Given the description of an element on the screen output the (x, y) to click on. 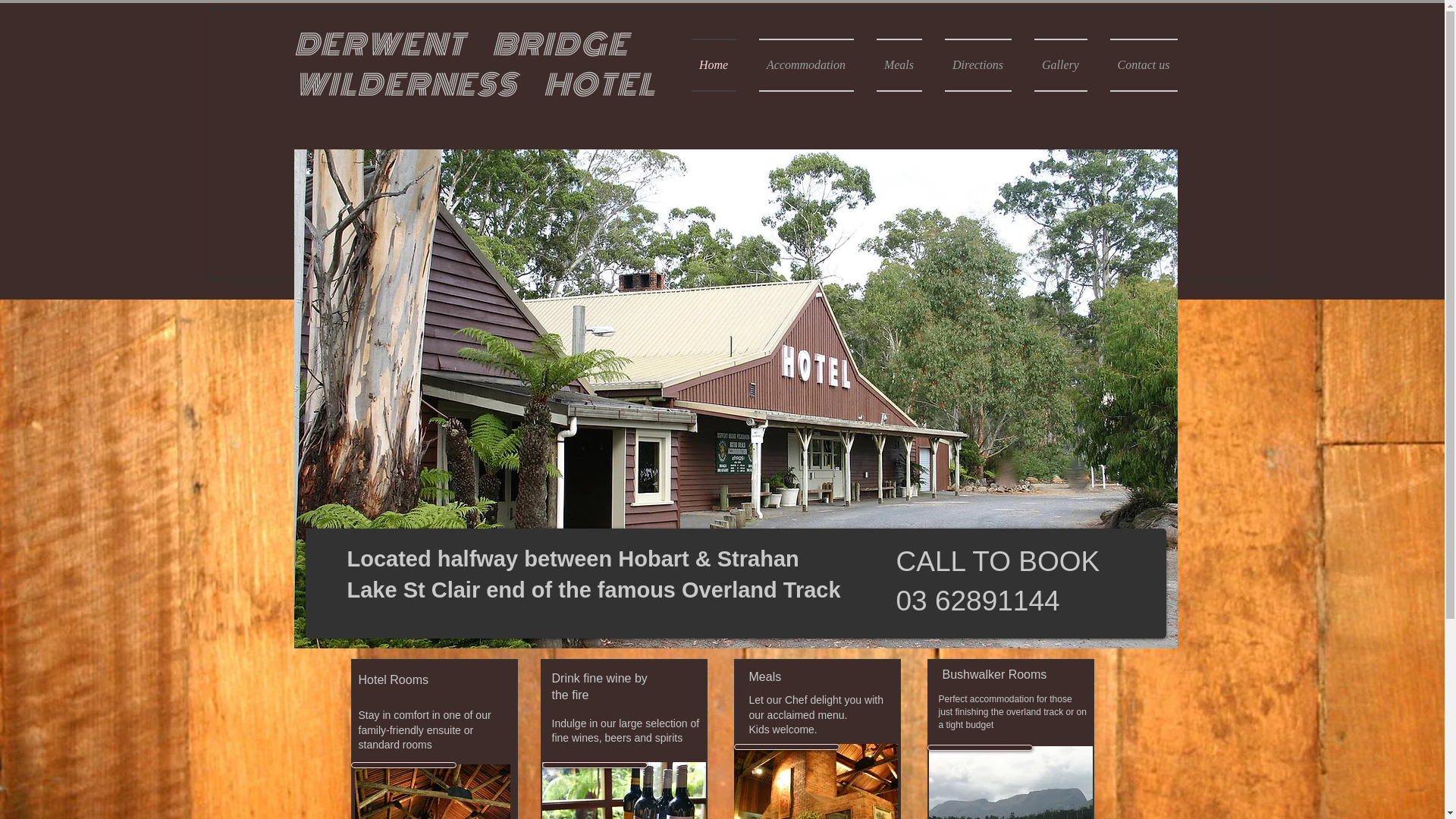
derwent bridge wilderness hotel lake st clair Element type: hover (735, 398)
Contact us Element type: text (1137, 64)
Accommodation Element type: text (806, 64)
Meals Element type: text (898, 64)
Gallery Element type: text (1060, 64)
Home Element type: text (719, 64)
Directions Element type: text (977, 64)
